Given the description of an element on the screen output the (x, y) to click on. 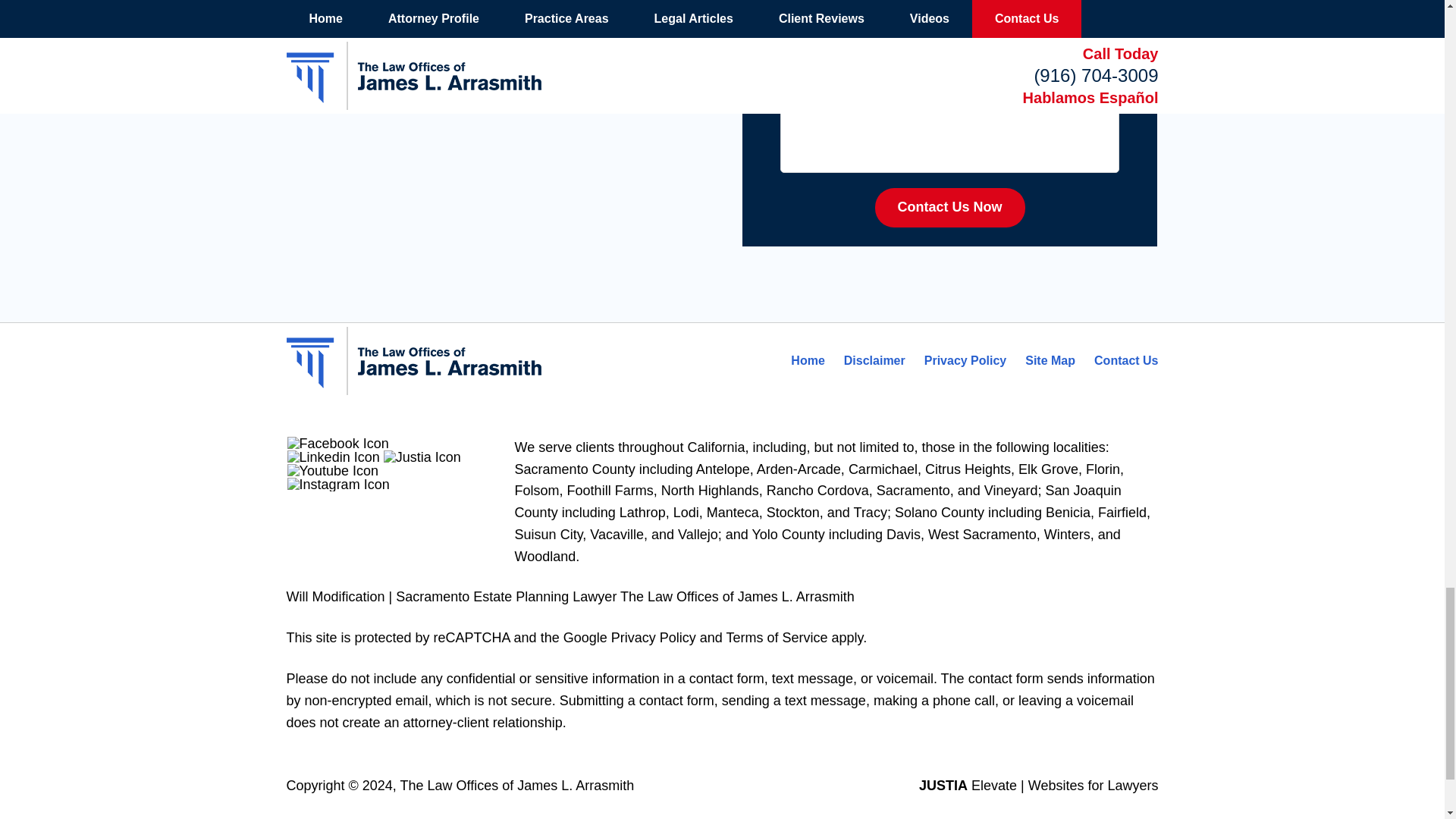
Justia (422, 457)
Instagram (338, 484)
Facebook (337, 443)
Linkedin (333, 457)
Youtube (332, 470)
